Given the description of an element on the screen output the (x, y) to click on. 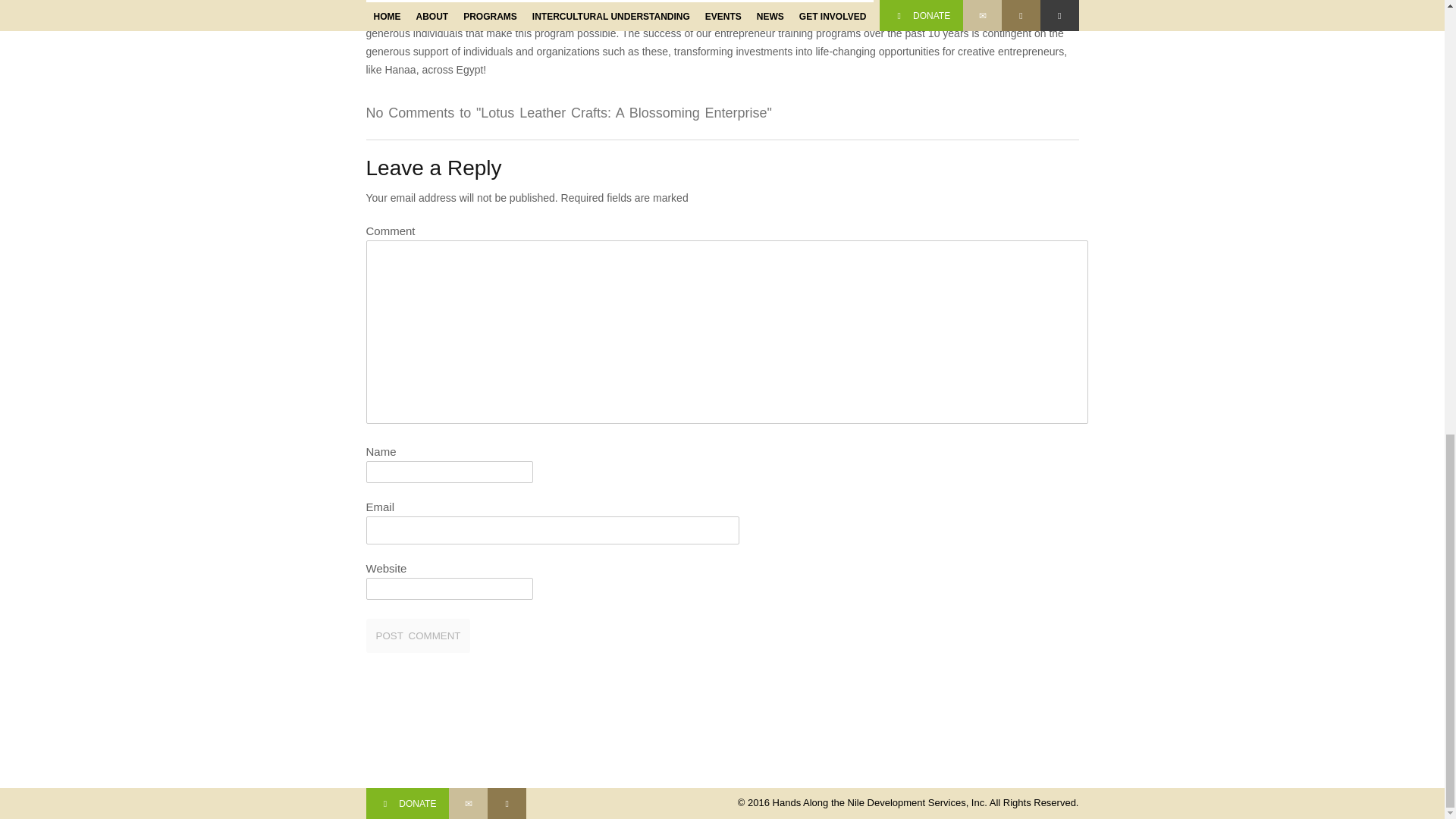
Post Comment (417, 635)
